Given the description of an element on the screen output the (x, y) to click on. 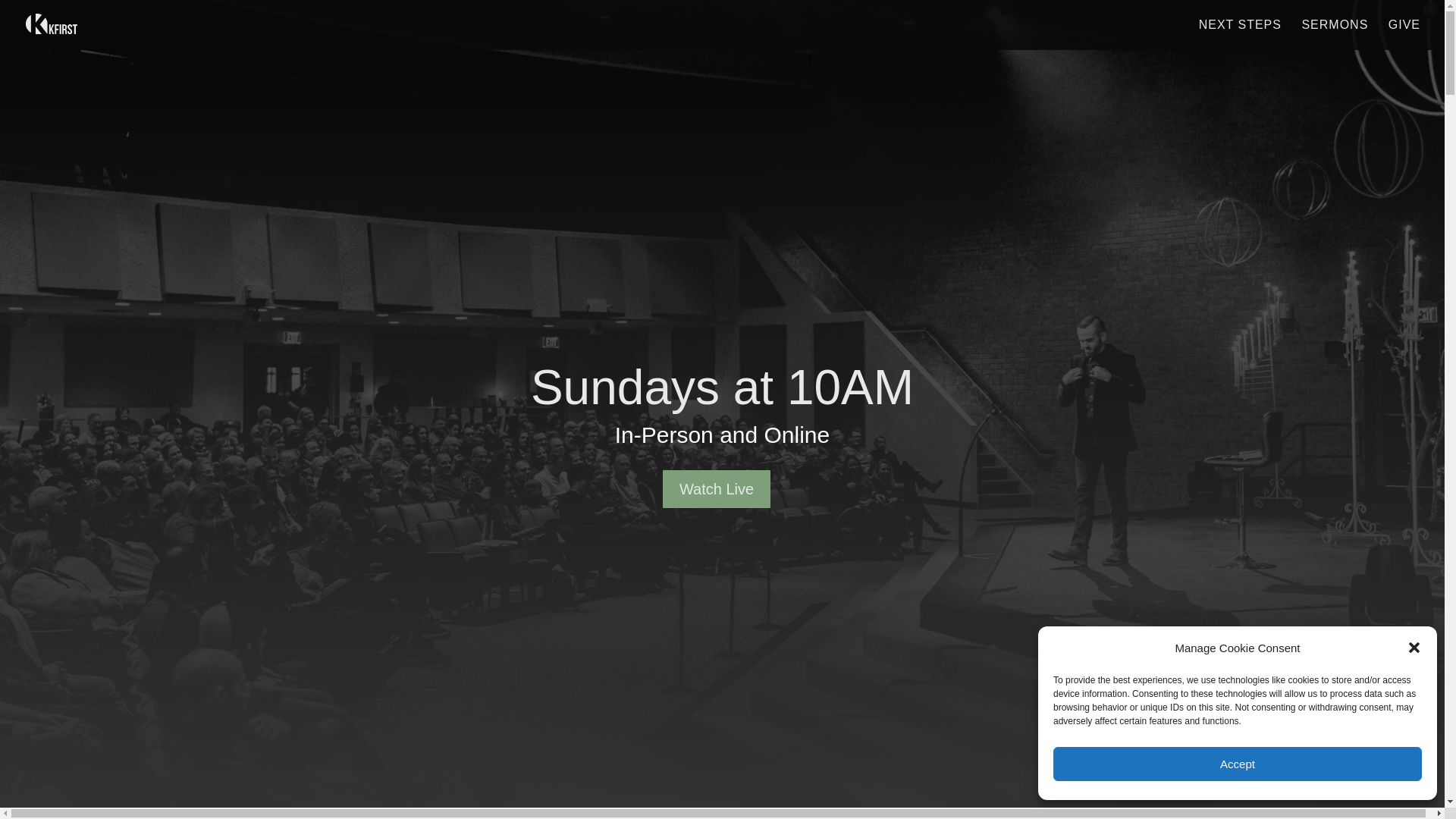
Watch Live (716, 488)
SERMONS (1334, 34)
NEXT STEPS (1239, 34)
Accept (1237, 763)
GIVE (1405, 34)
